Given the description of an element on the screen output the (x, y) to click on. 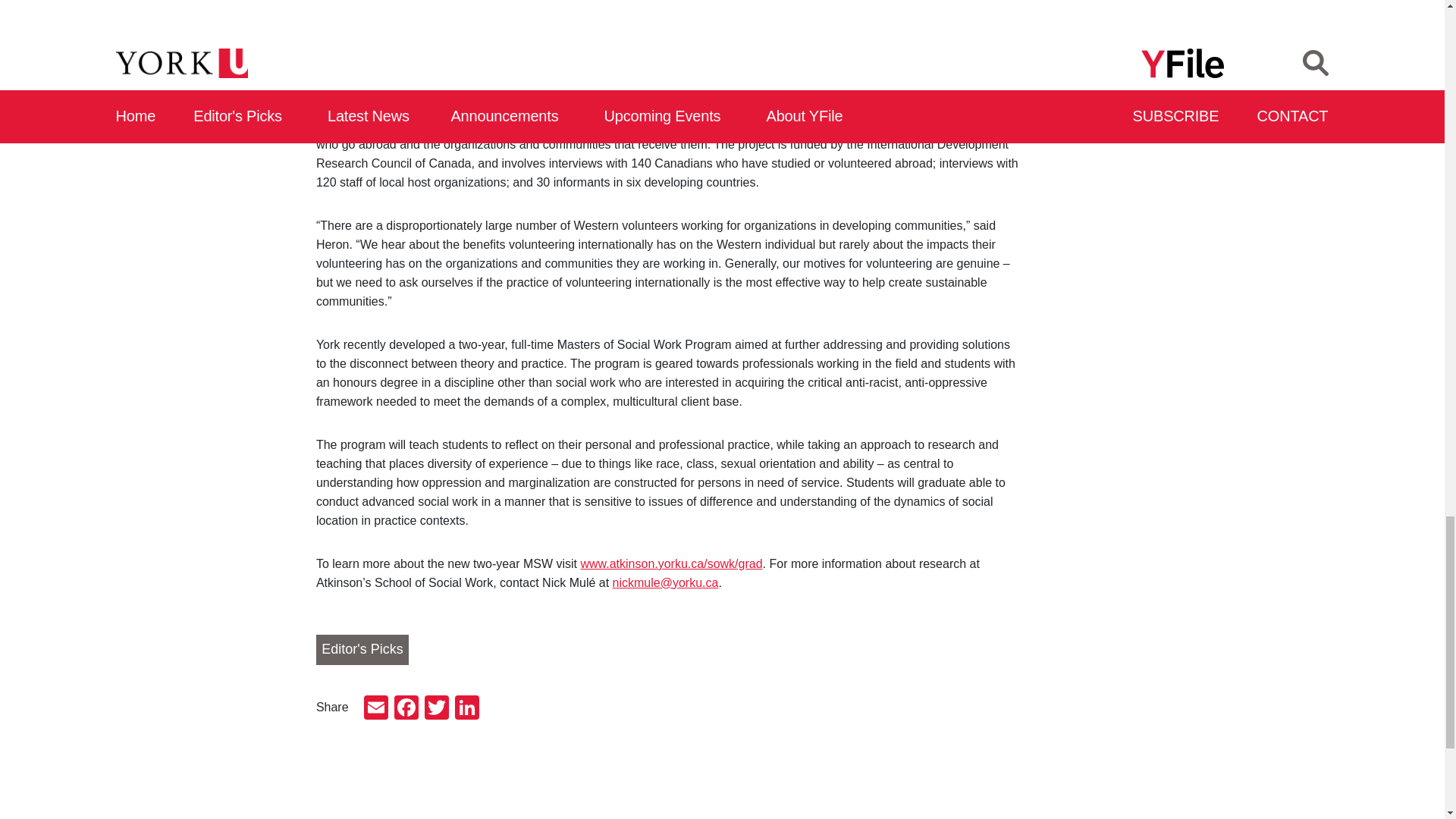
Facebook (406, 709)
Twitter (436, 709)
Facebook (406, 709)
Email (376, 709)
Twitter (436, 709)
LinkedIn (466, 709)
Editor's Picks (362, 649)
Email (376, 709)
